Given the description of an element on the screen output the (x, y) to click on. 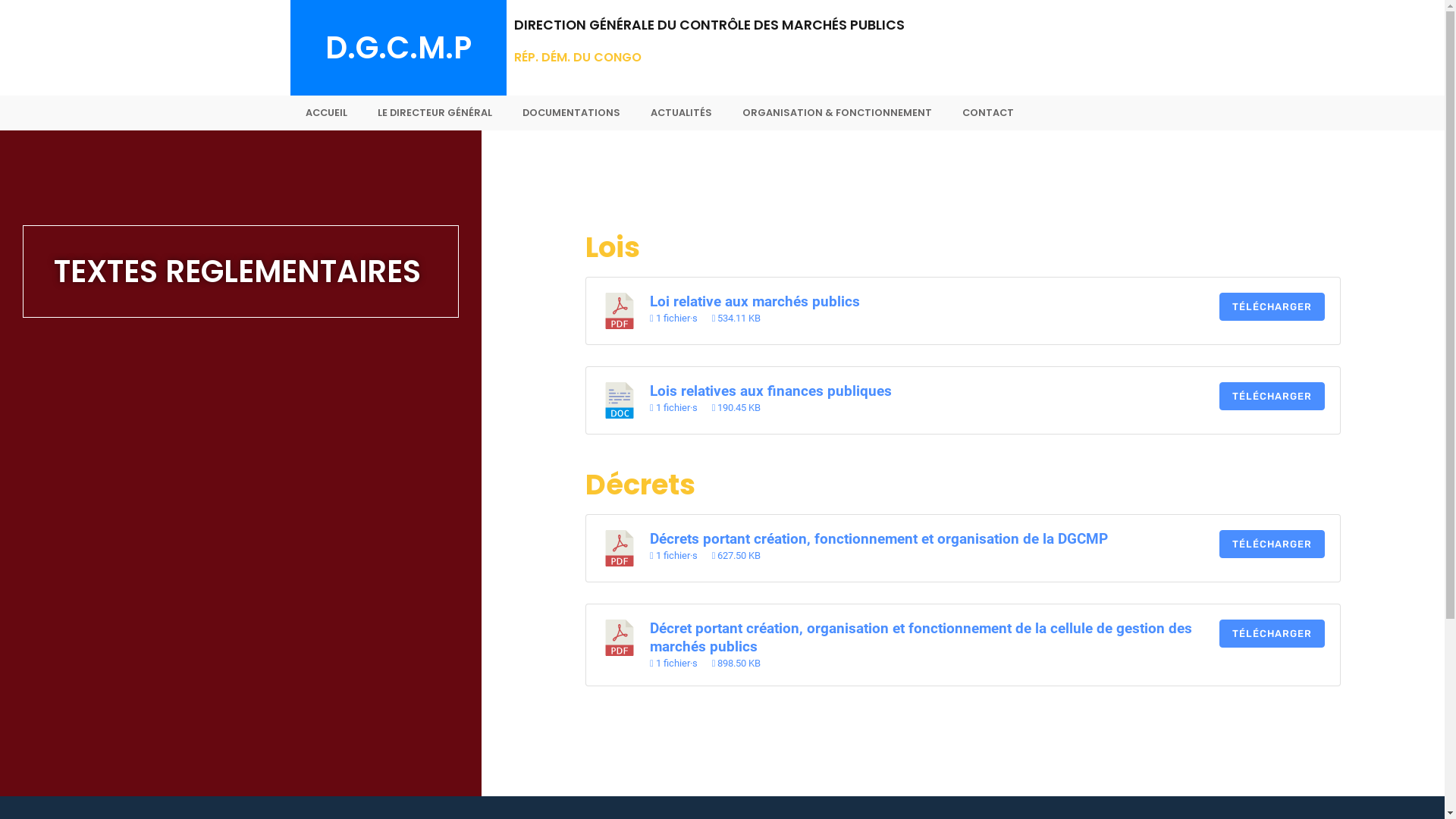
CONTACT Element type: text (987, 112)
ORGANISATION & FONCTIONNEMENT Element type: text (836, 112)
ACCUEIL Element type: text (325, 112)
DOCUMENTATIONS Element type: text (570, 112)
D.G.C.M.P Element type: text (397, 47)
Lois relatives aux finances publiques Element type: text (770, 390)
